Given the description of an element on the screen output the (x, y) to click on. 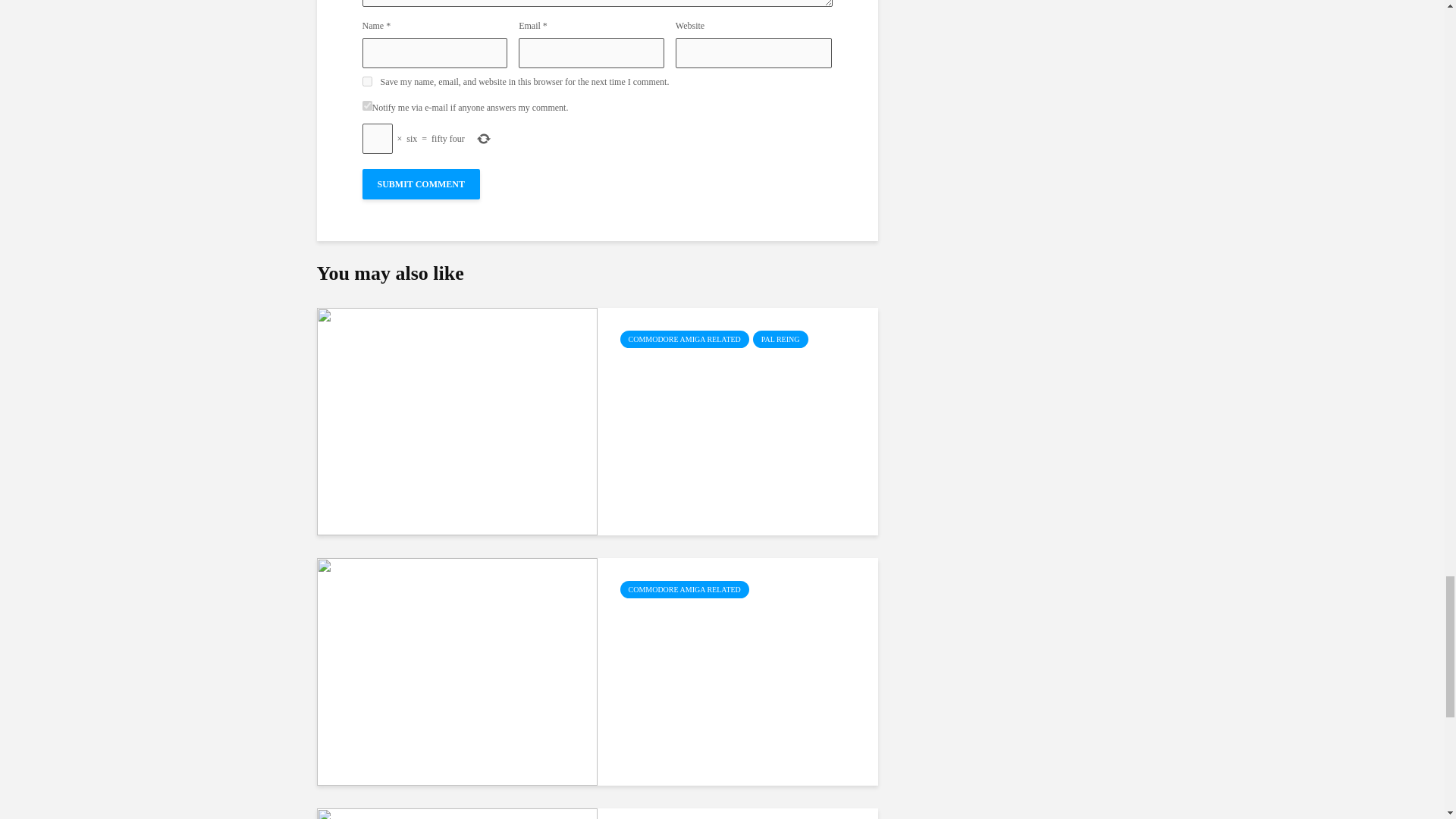
Submit Comment (421, 183)
My PAL stimulator (740, 368)
My PAL stimulator (456, 419)
on (367, 105)
COMMODORE AMIGA RELATED (684, 589)
PAL REING (780, 339)
yes (367, 81)
COMMODORE AMIGA RELATED (684, 339)
Submit Comment (421, 183)
